Given the description of an element on the screen output the (x, y) to click on. 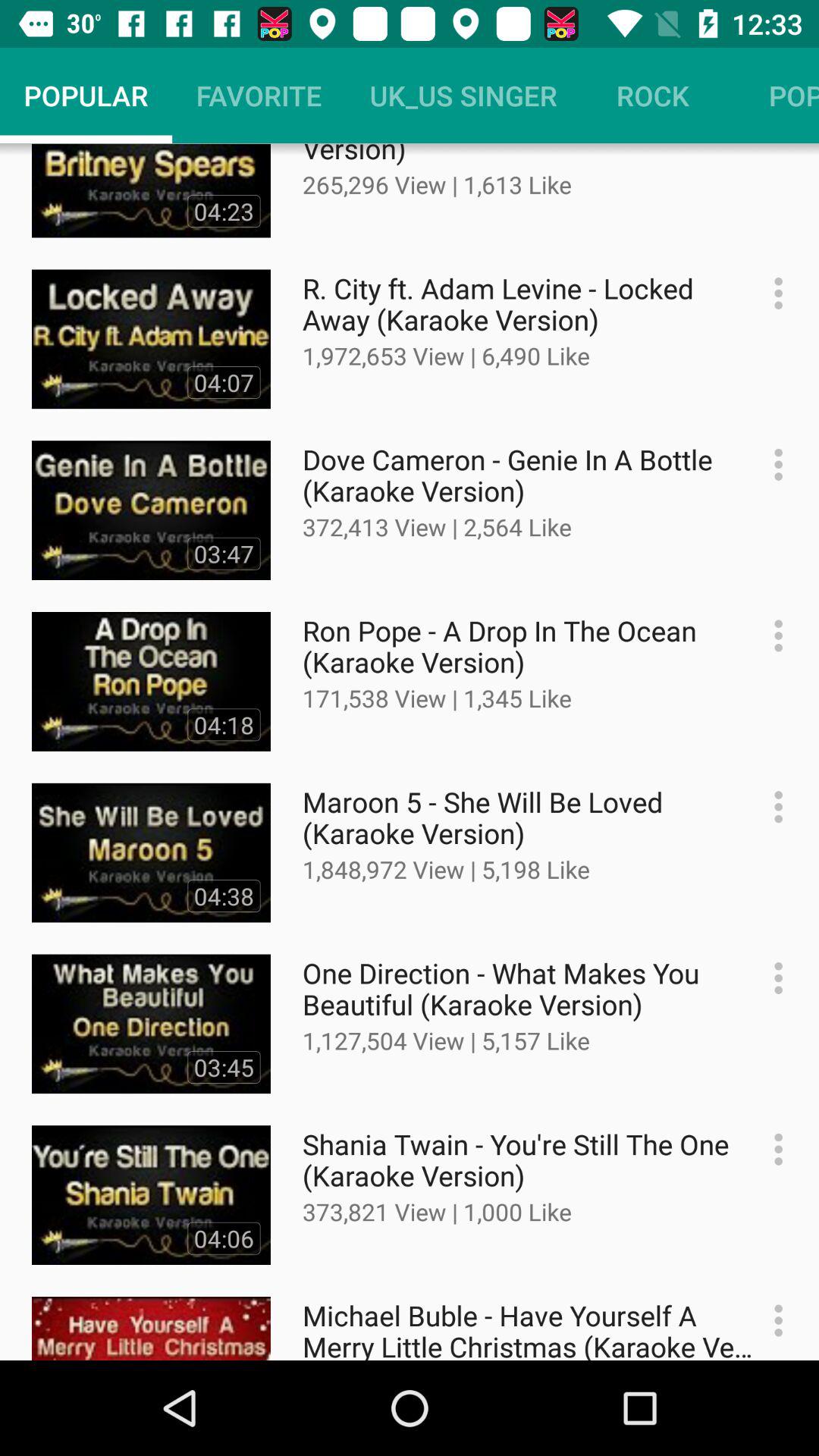
click to know the details (770, 806)
